Given the description of an element on the screen output the (x, y) to click on. 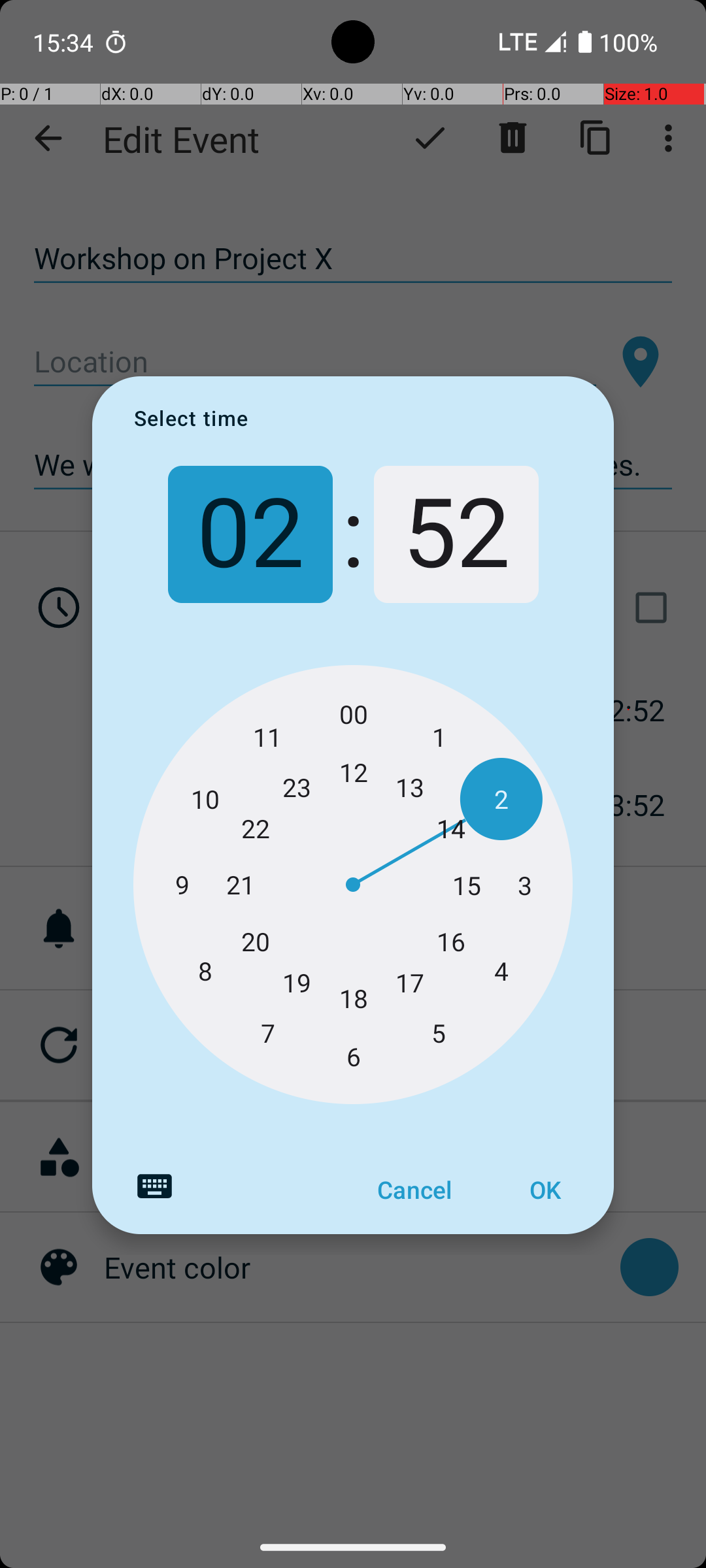
02 Element type: android.view.View (250, 534)
52 Element type: android.view.View (455, 534)
